Given the description of an element on the screen output the (x, y) to click on. 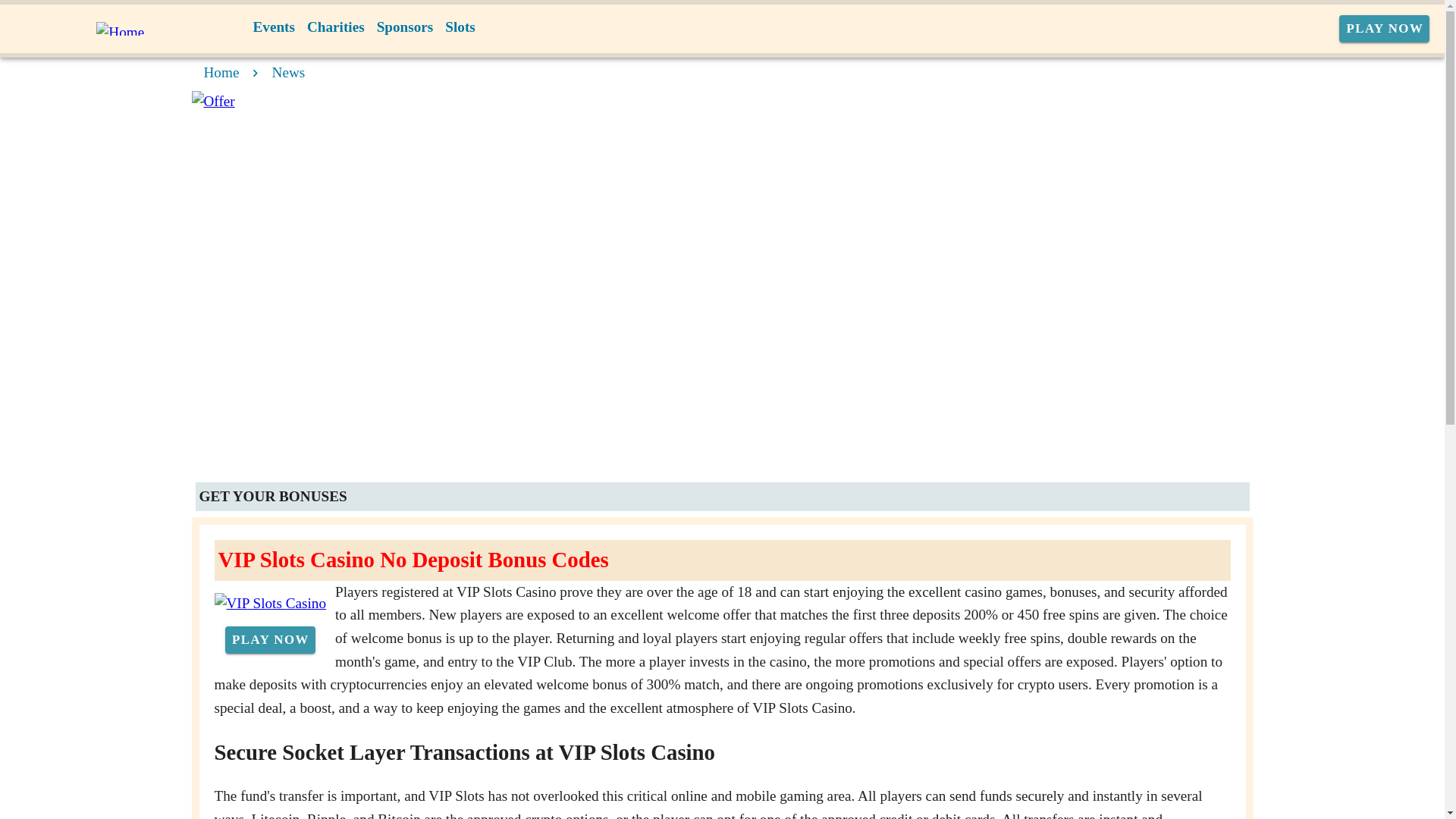
Events (274, 27)
Sponsors (405, 27)
PLAY NOW (270, 639)
News (288, 72)
Slots (459, 27)
Charities (336, 27)
PLAY NOW (1384, 28)
Home (220, 72)
